Given the description of an element on the screen output the (x, y) to click on. 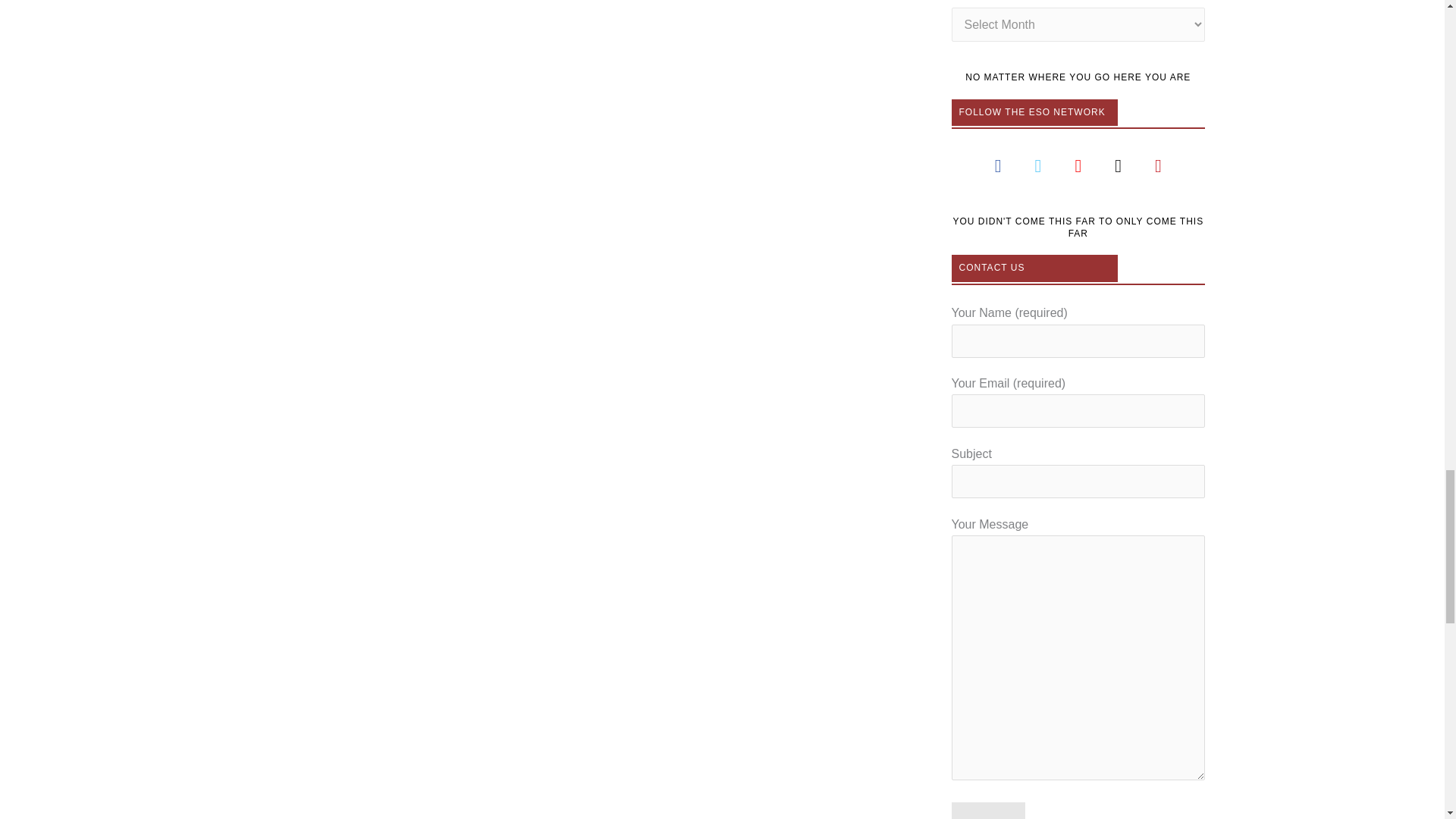
Send (988, 810)
